Given the description of an element on the screen output the (x, y) to click on. 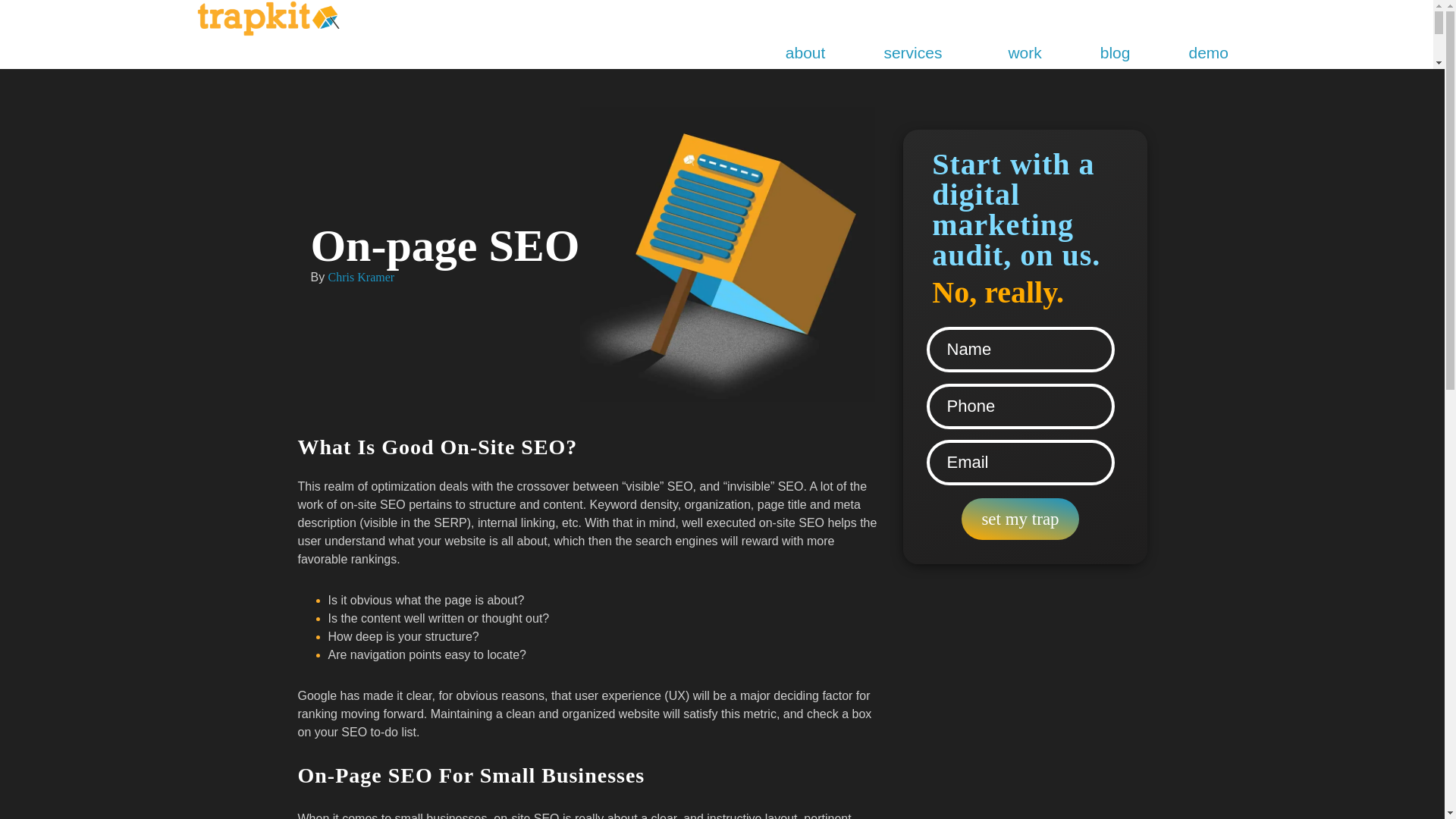
Set My Trap (1019, 518)
demo (1208, 52)
services (916, 52)
Set My Trap (1019, 518)
work (1023, 52)
about (805, 52)
Chris Kramer (361, 276)
blog (1115, 52)
